Given the description of an element on the screen output the (x, y) to click on. 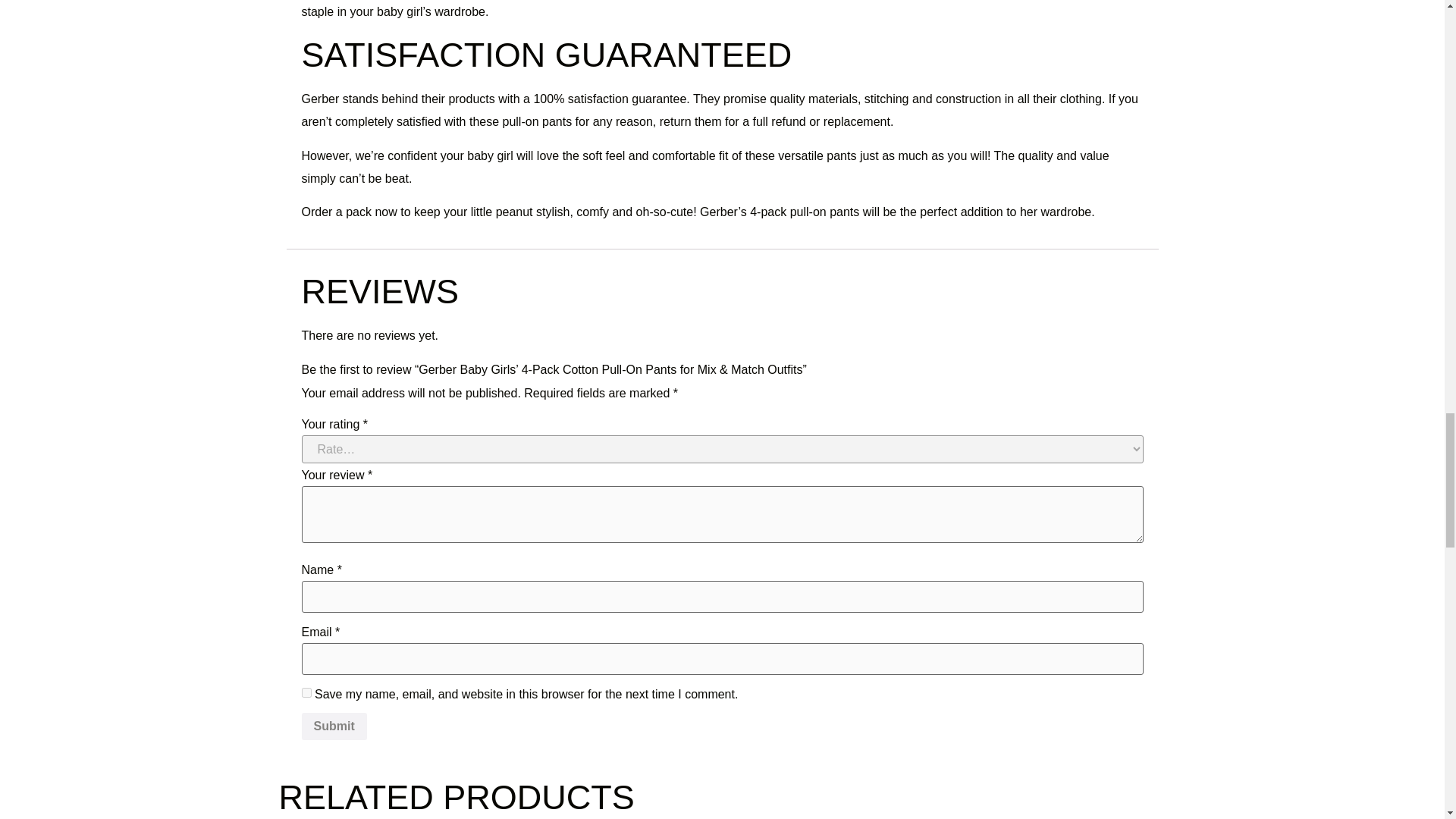
yes (306, 692)
Submit (333, 726)
Submit (333, 726)
